Given the description of an element on the screen output the (x, y) to click on. 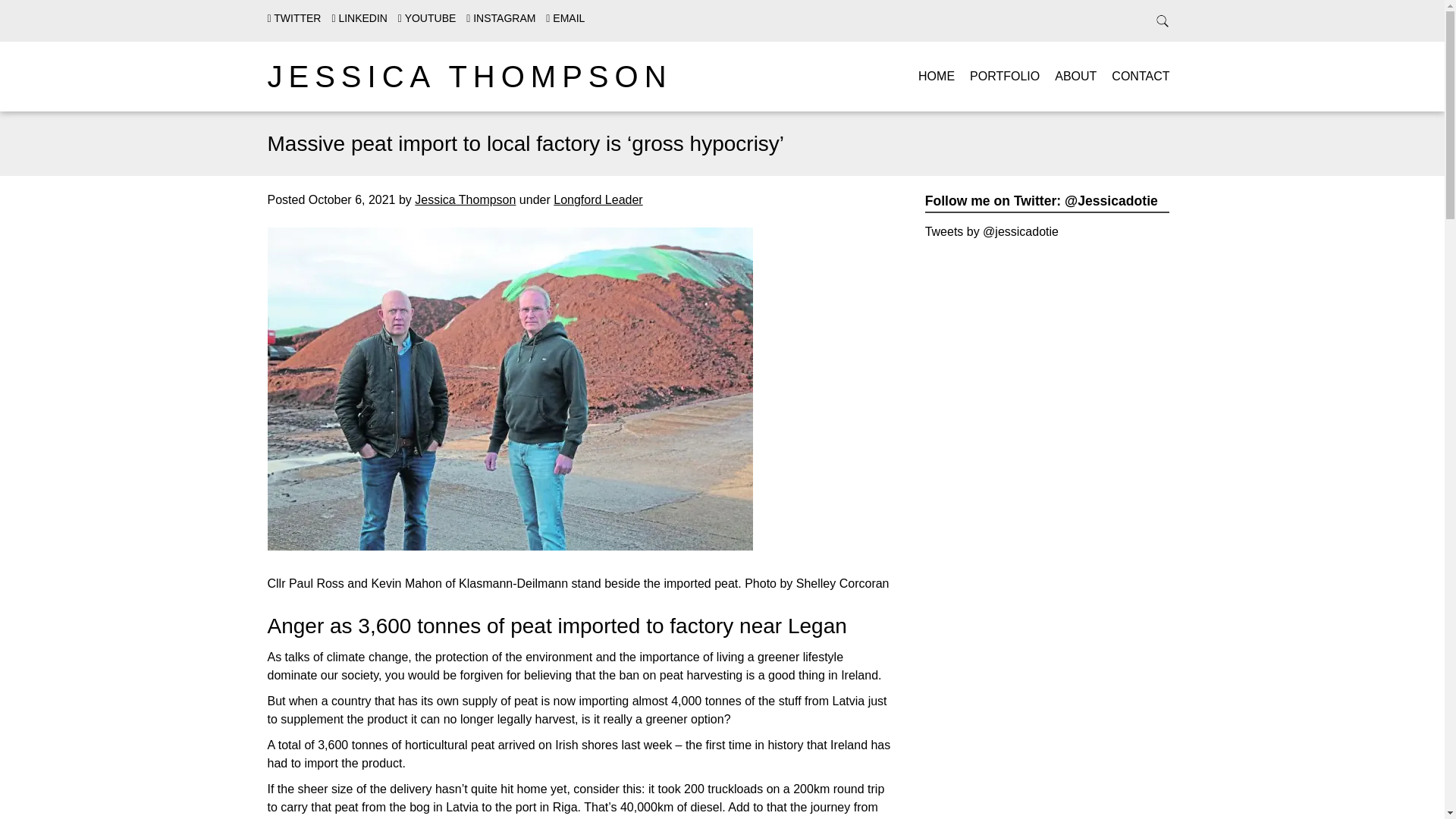
PORTFOLIO (1004, 76)
YOUTUBE (426, 18)
Search (30, 14)
TWITTER (293, 18)
ABOUT (1075, 76)
JESSICA THOMPSON (468, 76)
EMAIL (565, 18)
Jessica Thompson (464, 199)
Longford Leader (597, 199)
HOME (936, 76)
